Given the description of an element on the screen output the (x, y) to click on. 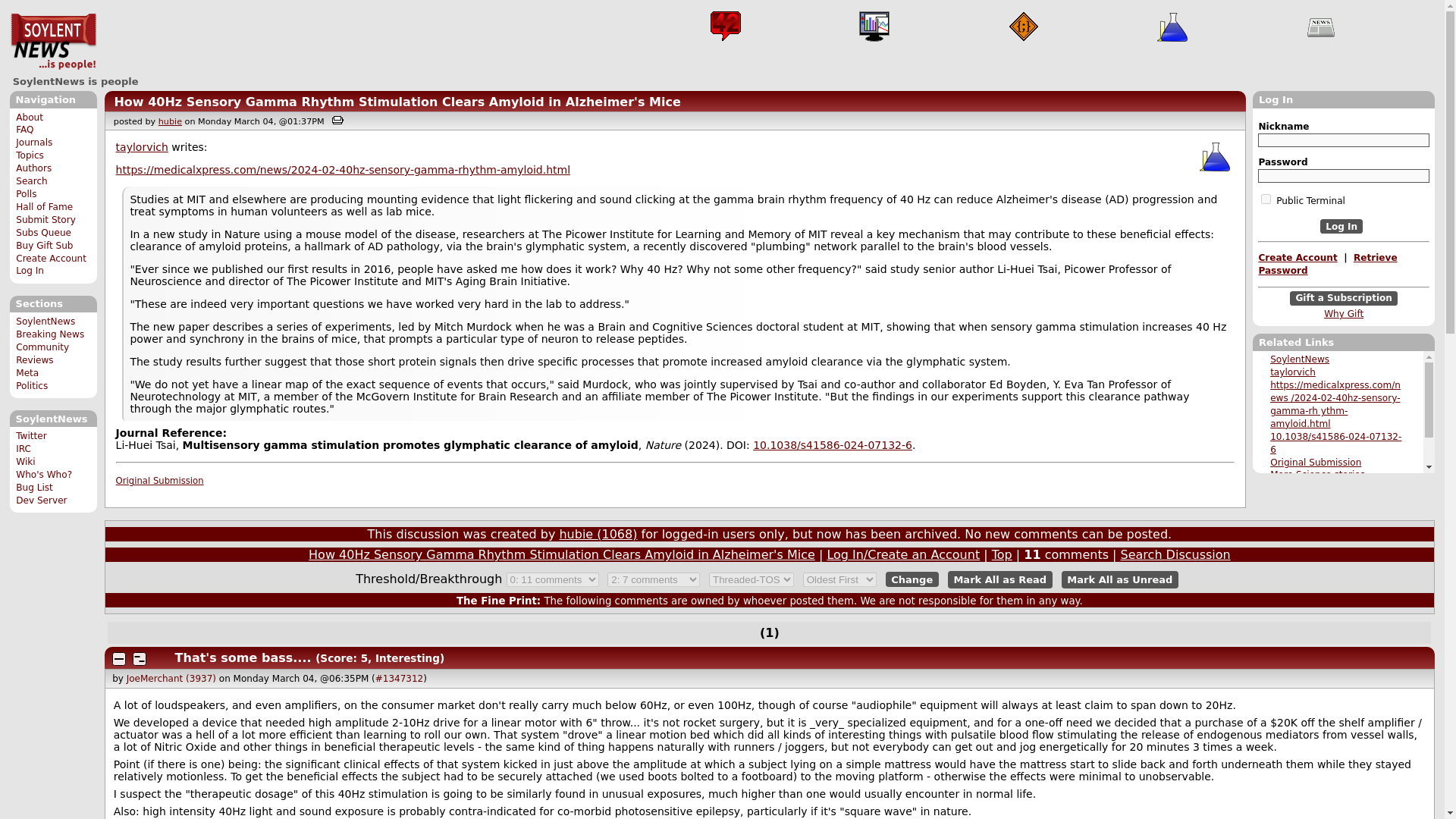
Buy Gift Sub (44, 245)
Meta (27, 372)
Community Reviews (42, 353)
Twitter (31, 435)
Breaking News (50, 334)
Answers (725, 26)
Bug List (34, 487)
Create Account (1296, 257)
Submit Story (45, 219)
Show all comments in tree (160, 658)
Log In (29, 270)
Who's Who? (43, 474)
Retrieve Password (1326, 264)
Politics (32, 385)
Code (1024, 26)
